Given the description of an element on the screen output the (x, y) to click on. 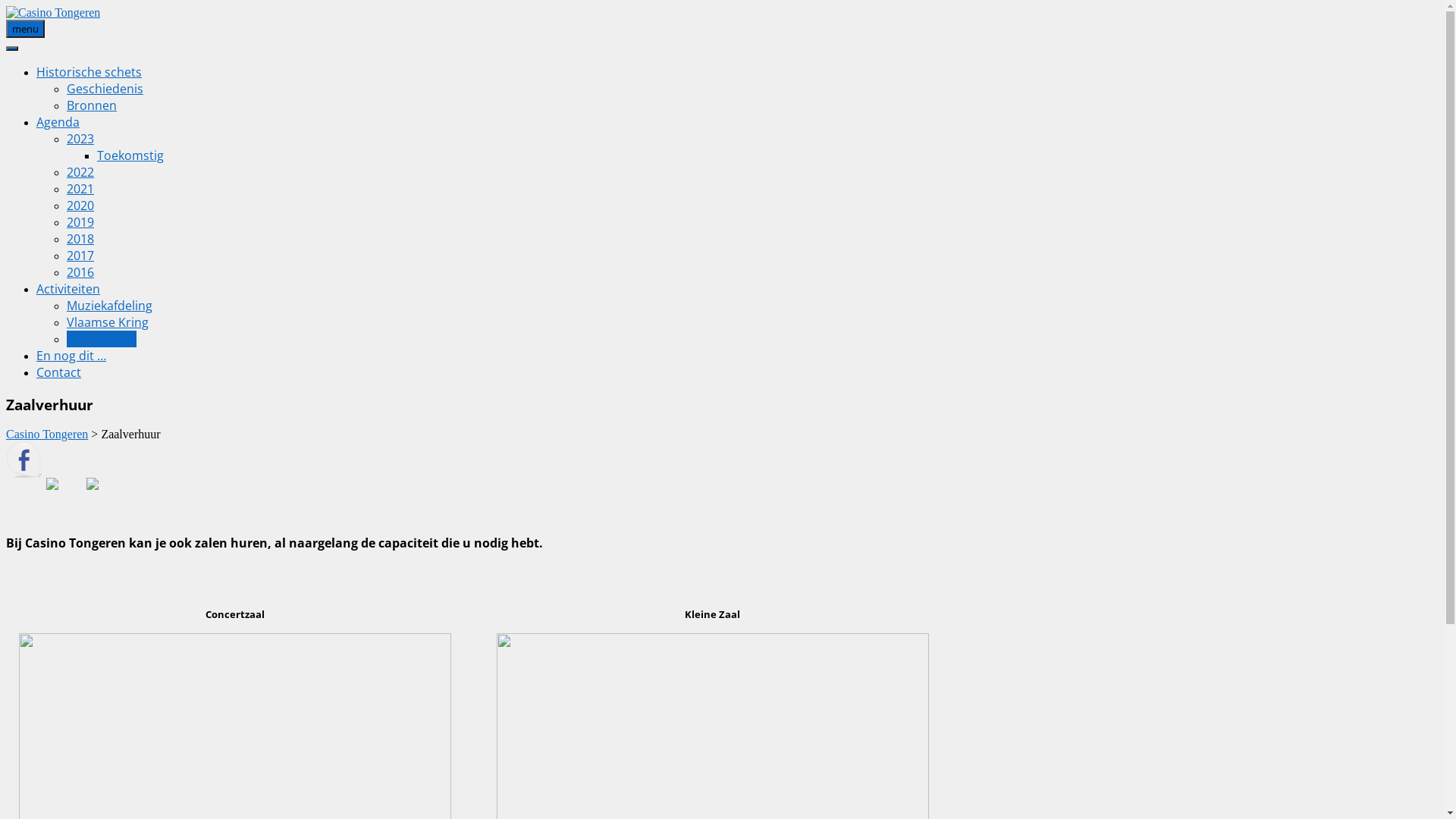
2022 Element type: text (80, 171)
menu Element type: text (25, 28)
Deel via mail Element type: hover (92, 483)
2017 Element type: text (80, 255)
Casino Tongeren Element type: text (46, 433)
Muziekafdeling Element type: text (109, 305)
Zaalverhuur Element type: text (101, 338)
2023 Element type: text (80, 138)
2020 Element type: text (80, 205)
Bronnen Element type: text (91, 105)
2021 Element type: text (80, 188)
Deel op Facebook Element type: hover (24, 459)
Agenda Element type: text (57, 121)
Deel via Twitter Element type: hover (64, 495)
Vlaamse Kring Element type: text (107, 321)
Activiteiten Element type: text (68, 288)
Concertzaal Element type: text (234, 614)
Toekomstig Element type: text (130, 155)
Historische schets Element type: text (88, 71)
Geschiedenis Element type: text (104, 88)
Kleine Zaal Element type: text (712, 614)
Contact Element type: text (58, 372)
2019 Element type: text (80, 221)
Deel via mail Element type: hover (104, 495)
Deel via Twitter Element type: hover (52, 483)
2016 Element type: text (80, 271)
2018 Element type: text (80, 238)
